Given the description of an element on the screen output the (x, y) to click on. 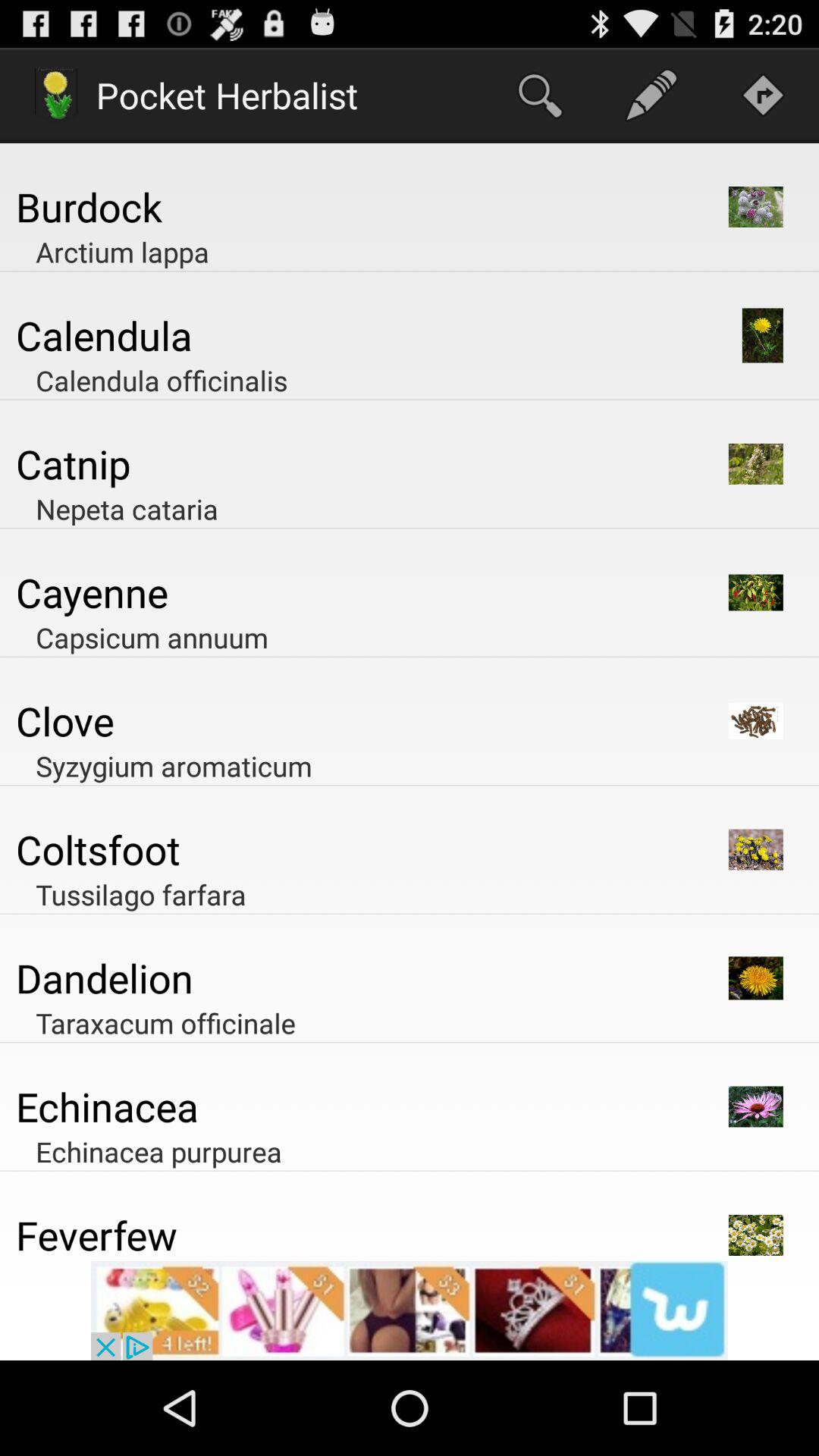
know about the advertisement (409, 1310)
